Given the description of an element on the screen output the (x, y) to click on. 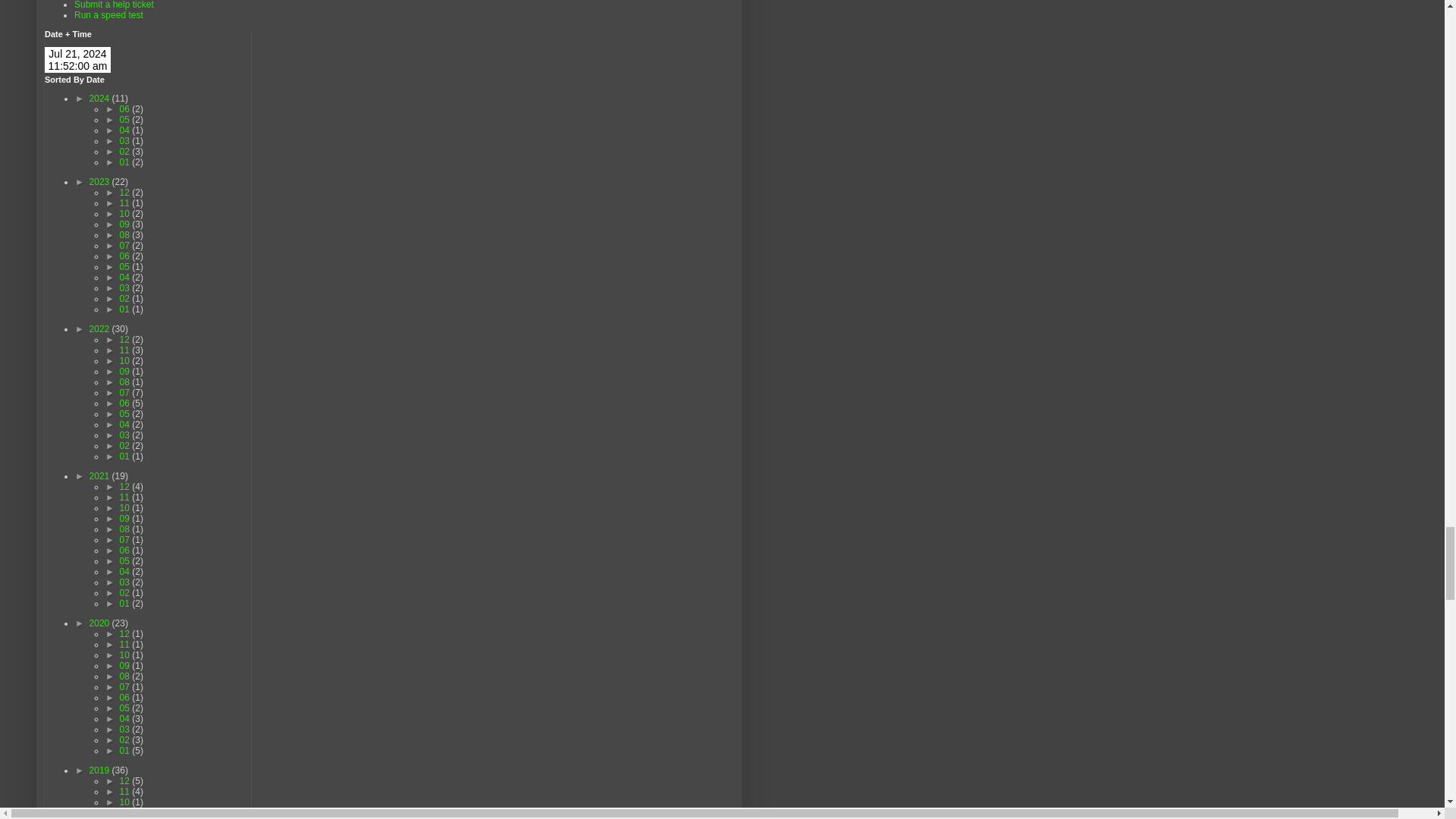
Run a speed test (108, 14)
Submit a help ticket (114, 4)
06 (125, 109)
05 (125, 119)
2024 (100, 98)
